Given the description of an element on the screen output the (x, y) to click on. 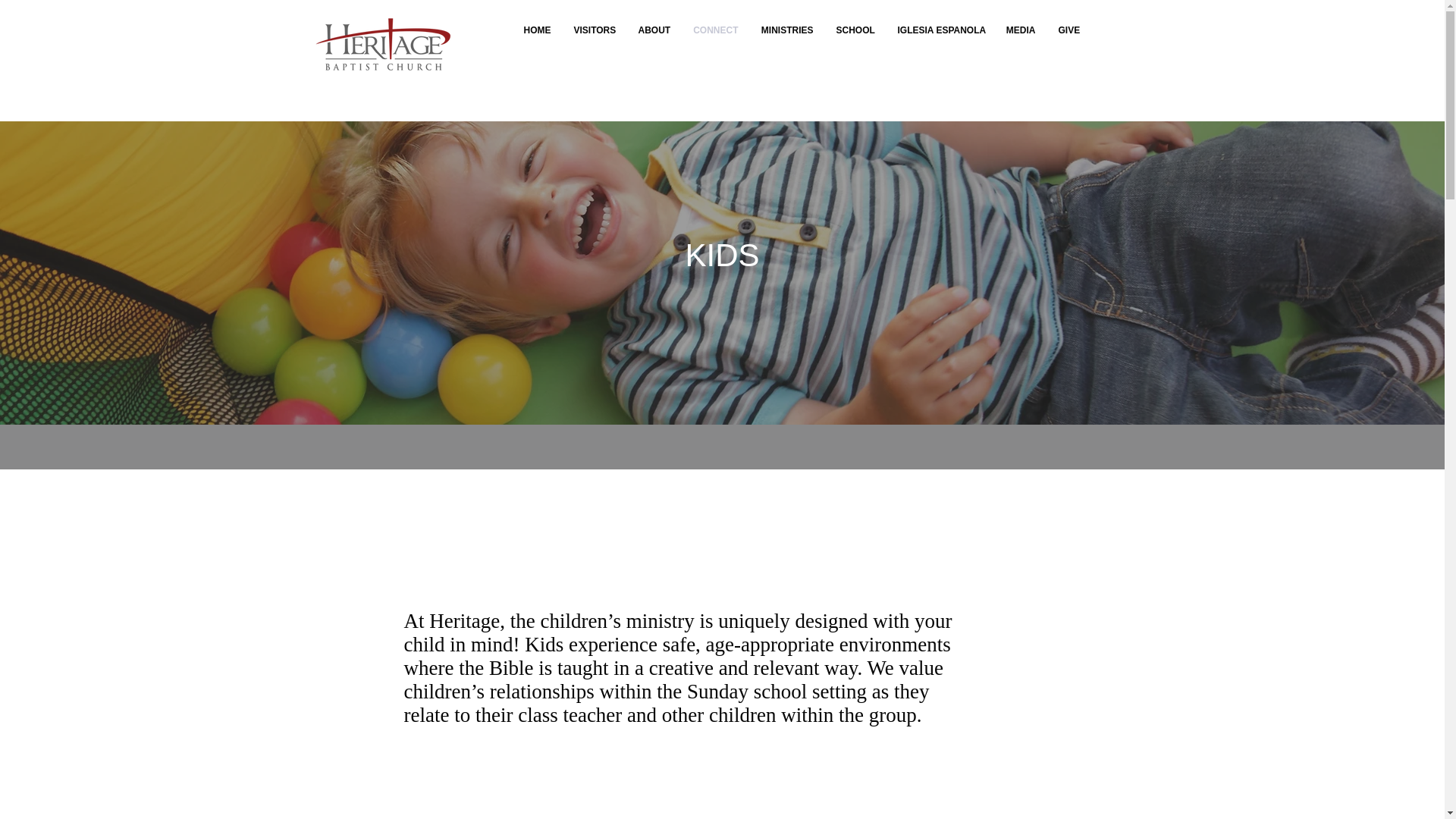
VISITORS (594, 30)
MINISTRIES (786, 30)
GIVE (1068, 30)
MEDIA (1020, 30)
IGLESIA ESPANOLA (939, 30)
SCHOOL (855, 30)
CONNECT (715, 30)
HOME (536, 30)
ABOUT (653, 30)
